Given the description of an element on the screen output the (x, y) to click on. 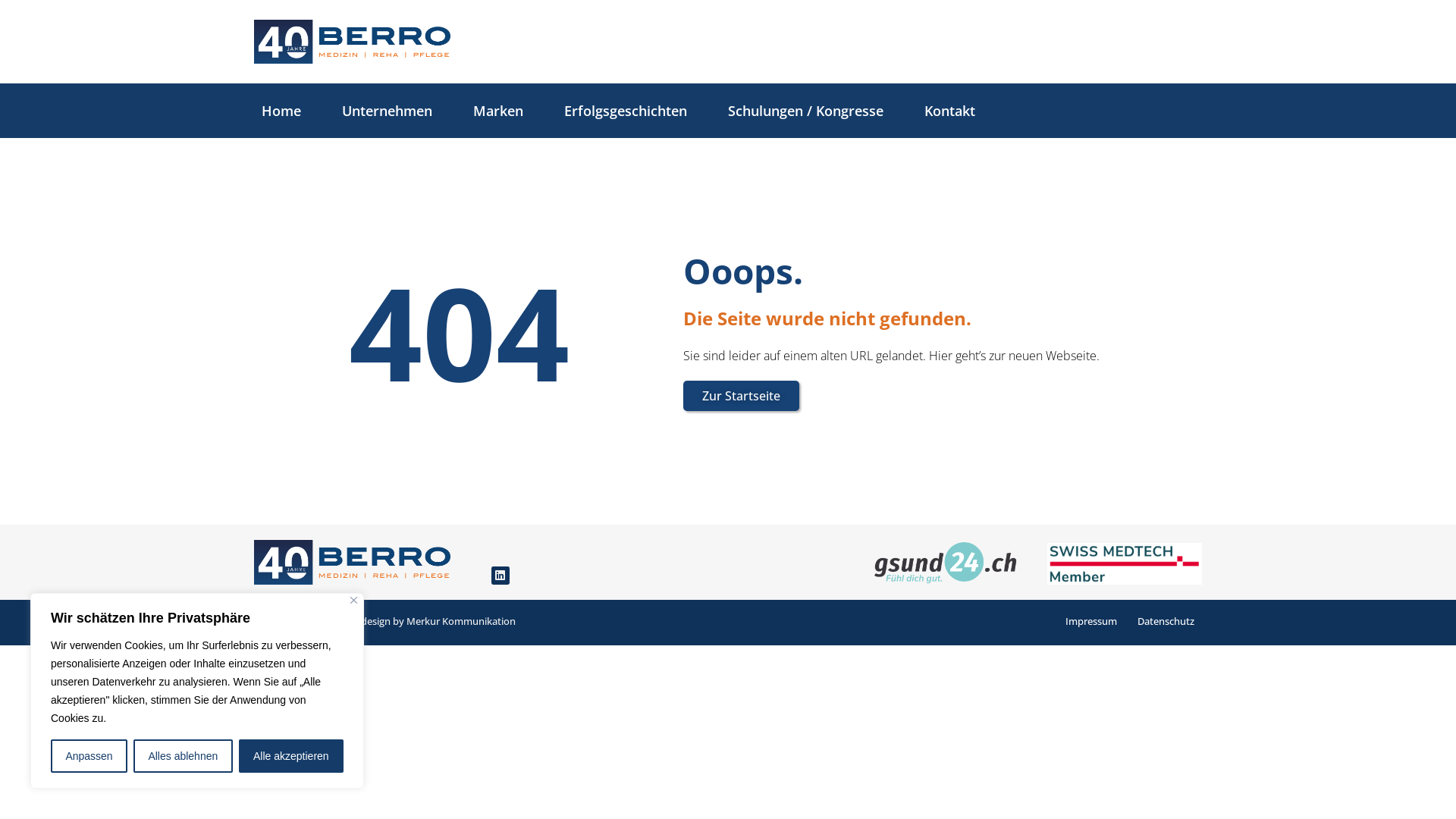
Home Element type: text (281, 110)
Schulungen / Kongresse Element type: text (804, 110)
Alle akzeptieren Element type: text (290, 755)
Kontakt Element type: text (949, 110)
Impressum Element type: text (1091, 620)
Anpassen Element type: text (88, 755)
Zur Startseite Element type: text (741, 395)
Datenschutz Element type: text (1165, 620)
Marken Element type: text (497, 110)
Erfolgsgeschichten Element type: text (624, 110)
Alles ablehnen Element type: text (182, 755)
Unternehmen Element type: text (386, 110)
Webdesign by Merkur Kommunikation Element type: text (427, 620)
